Given the description of an element on the screen output the (x, y) to click on. 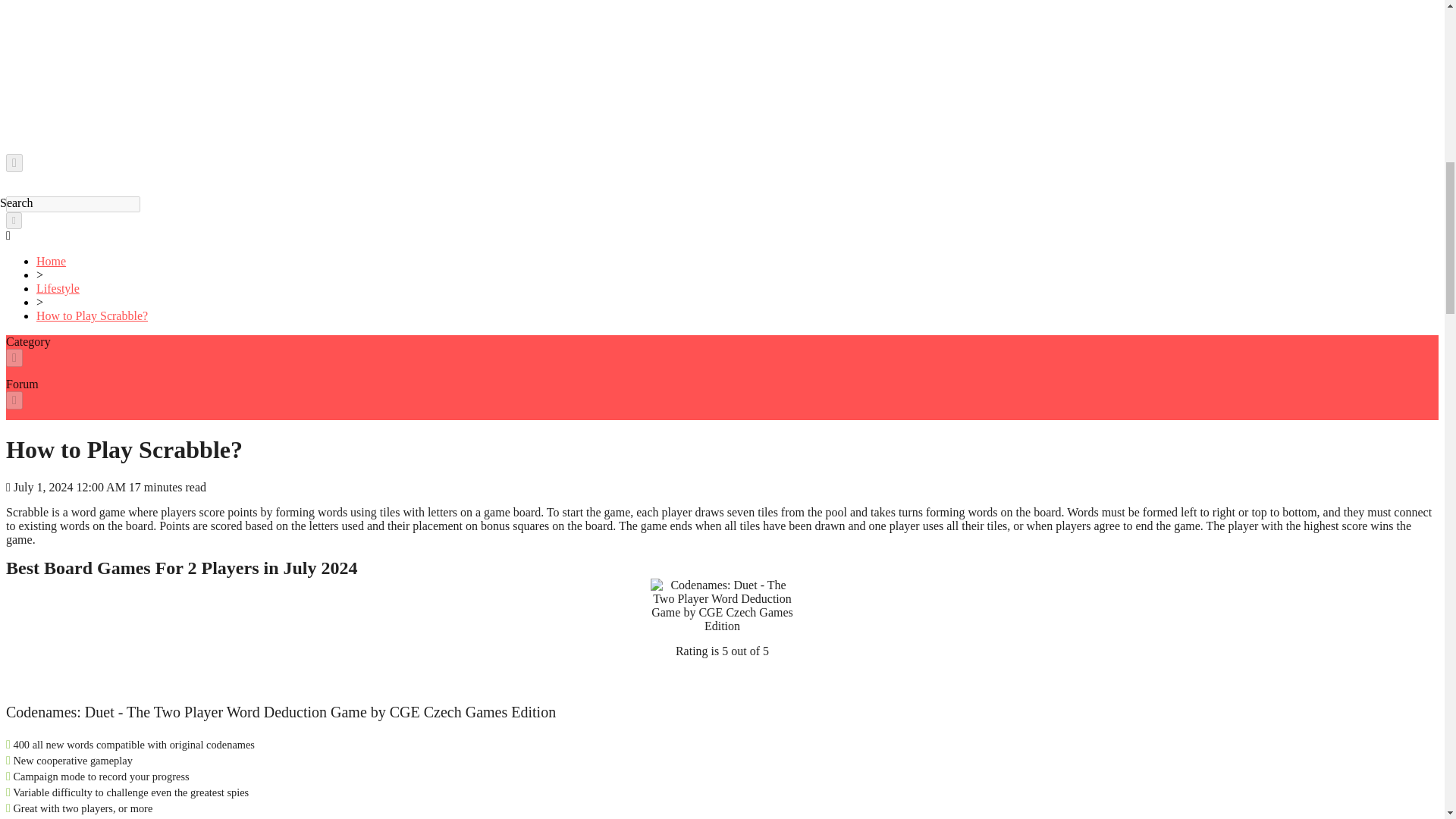
How to Play Scrabble? (92, 315)
Lifestyle (58, 287)
Home (50, 260)
